Given the description of an element on the screen output the (x, y) to click on. 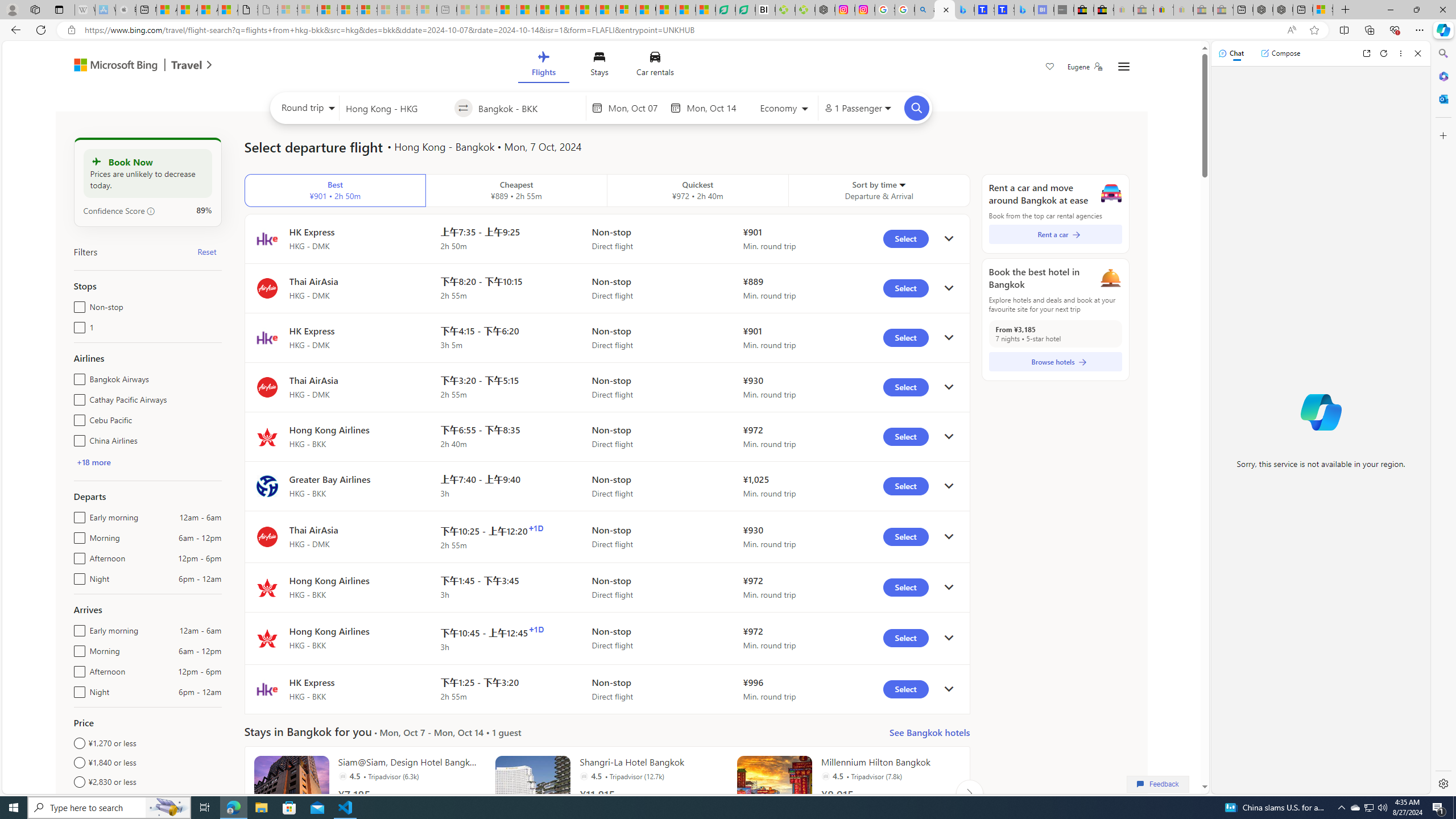
Compose (1280, 52)
Aberdeen, Hong Kong SAR severe weather | Microsoft Weather (227, 9)
Info tooltip (151, 211)
Sign in to your Microsoft account - Sleeping (287, 9)
Going to? (528, 107)
